Given the description of an element on the screen output the (x, y) to click on. 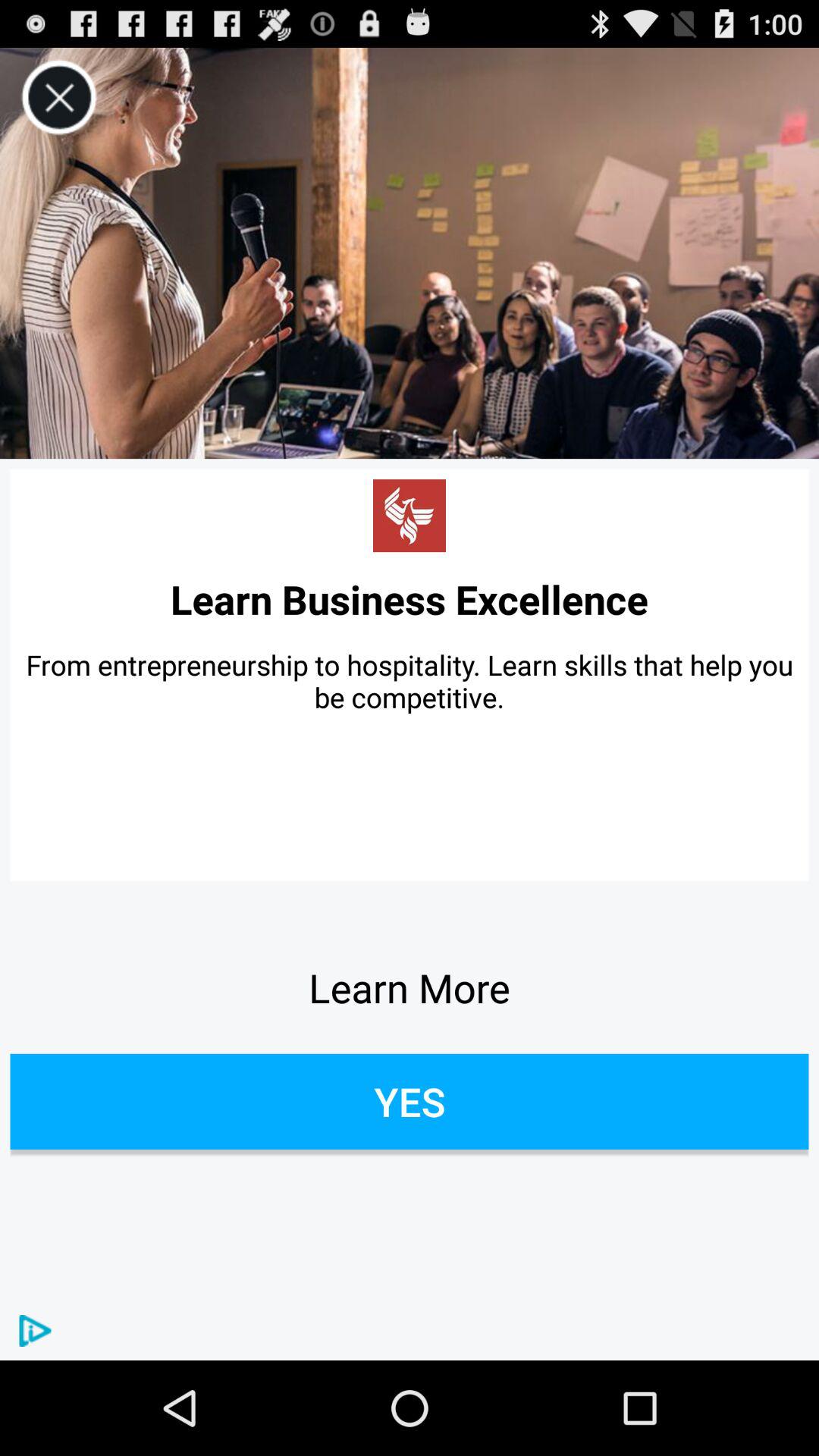
flip to yes (409, 1101)
